Given the description of an element on the screen output the (x, y) to click on. 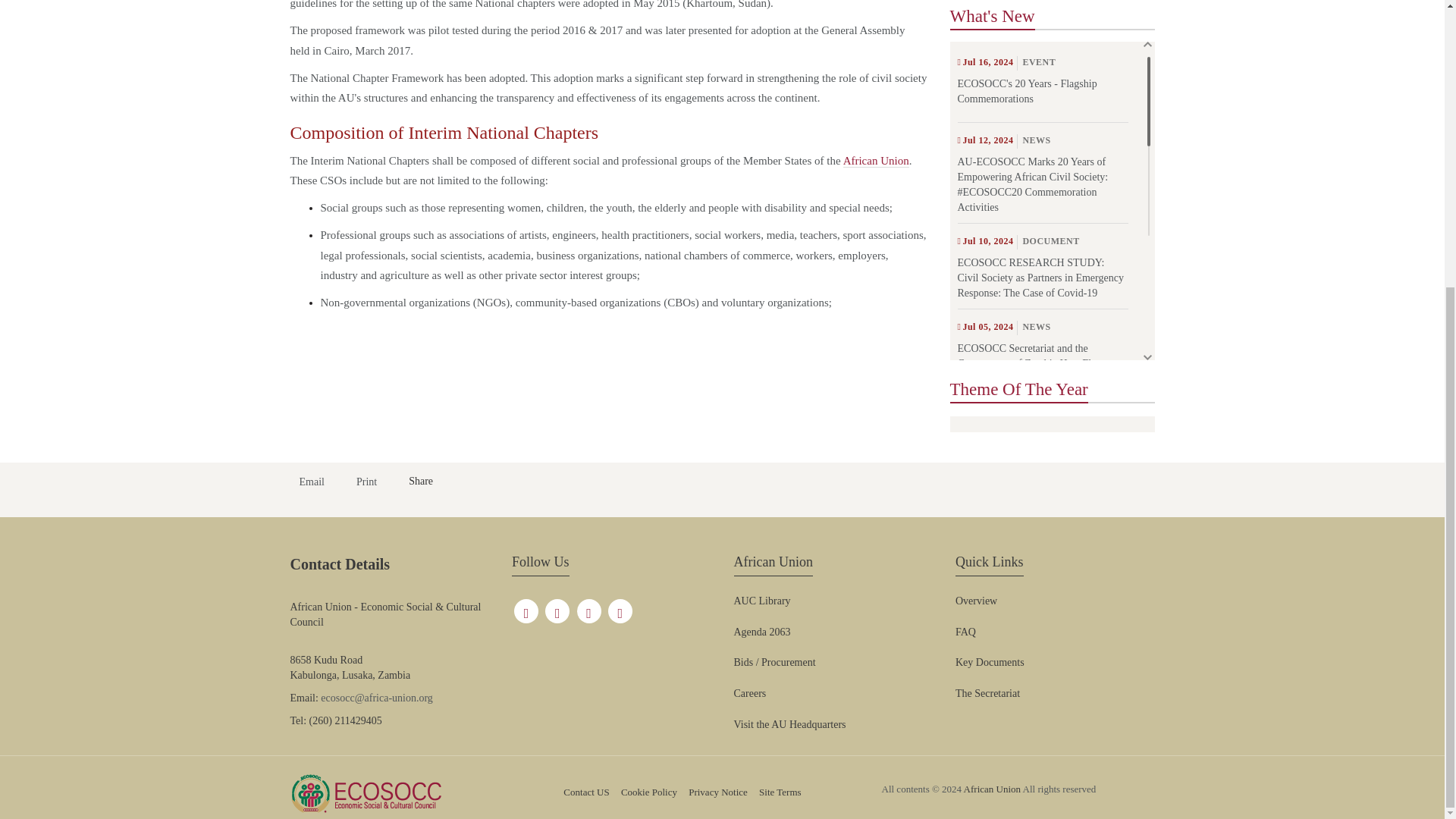
All African Union websites (965, 631)
